Given the description of an element on the screen output the (x, y) to click on. 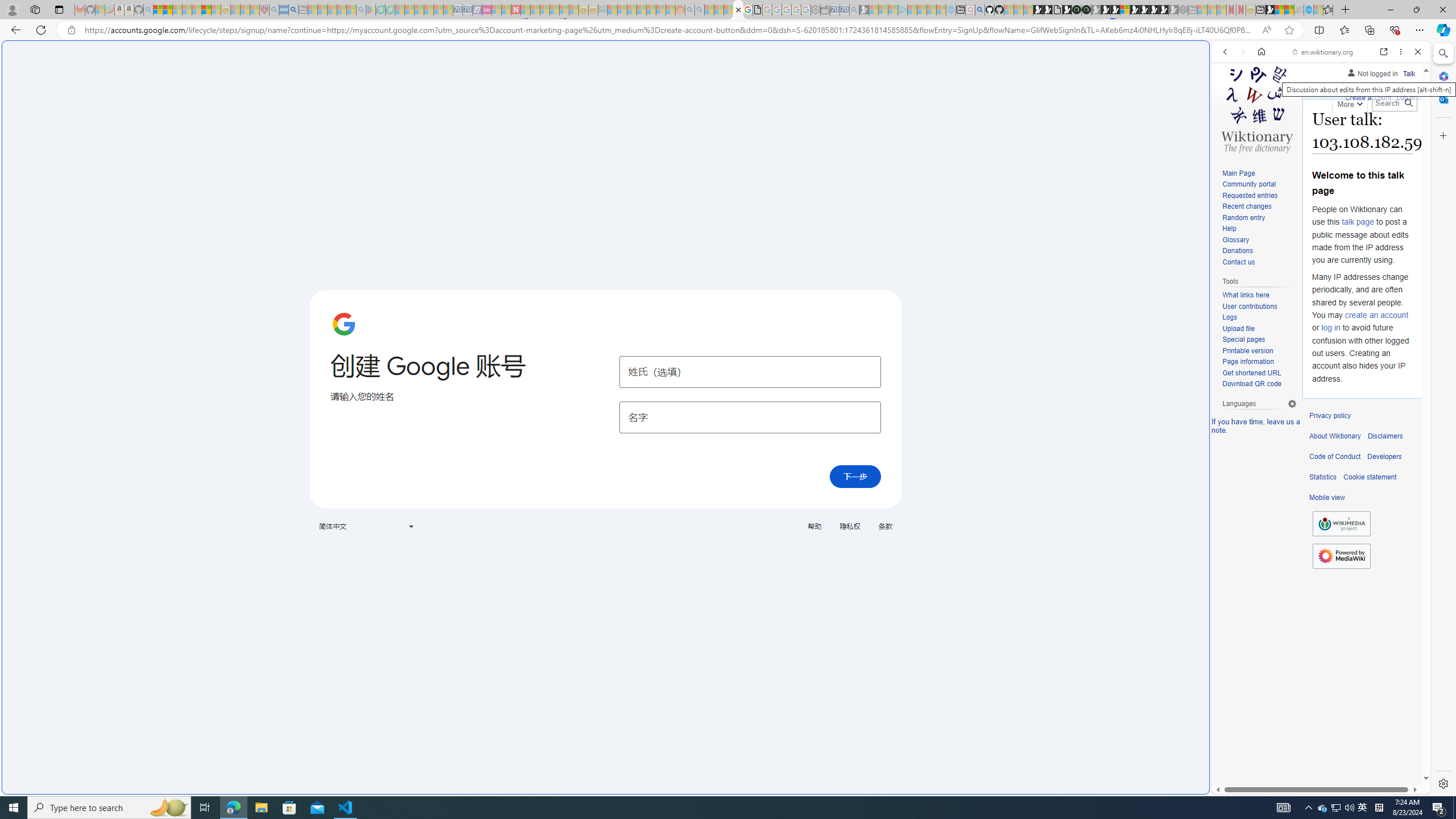
Recent changes (1246, 206)
Developers (1384, 456)
Statistics (1322, 477)
Upload file (1259, 328)
Services - Maintenance | Sky Blue Bikes - Sky Blue Bikes (1307, 9)
Download QR code (1259, 383)
Recent changes (1259, 206)
Log in (1405, 98)
